Given the description of an element on the screen output the (x, y) to click on. 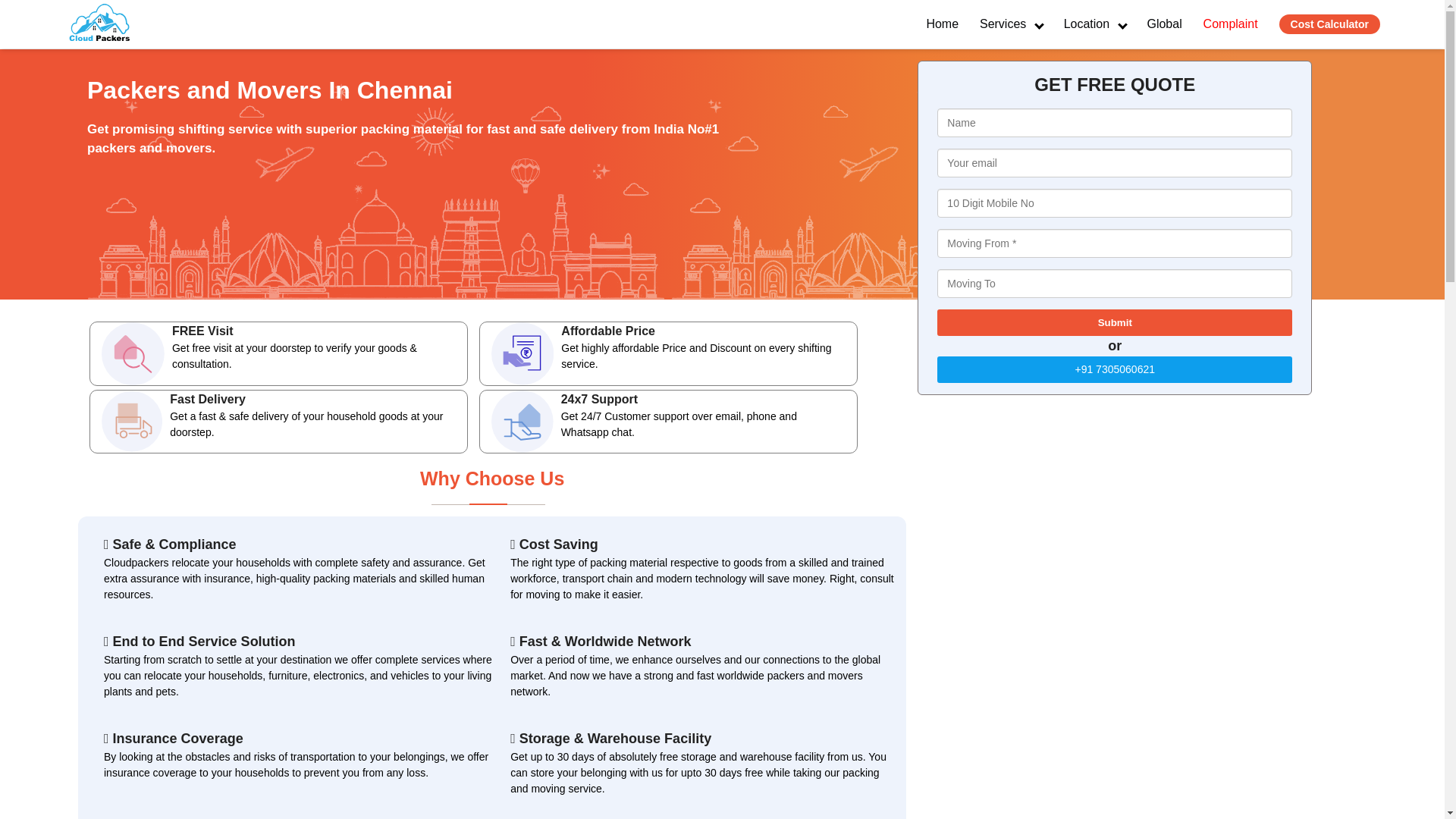
Submit (1114, 322)
Cost Calculator (1329, 24)
Global (1163, 24)
Submit (1114, 322)
Home (942, 24)
Complaint (1230, 24)
